Given the description of an element on the screen output the (x, y) to click on. 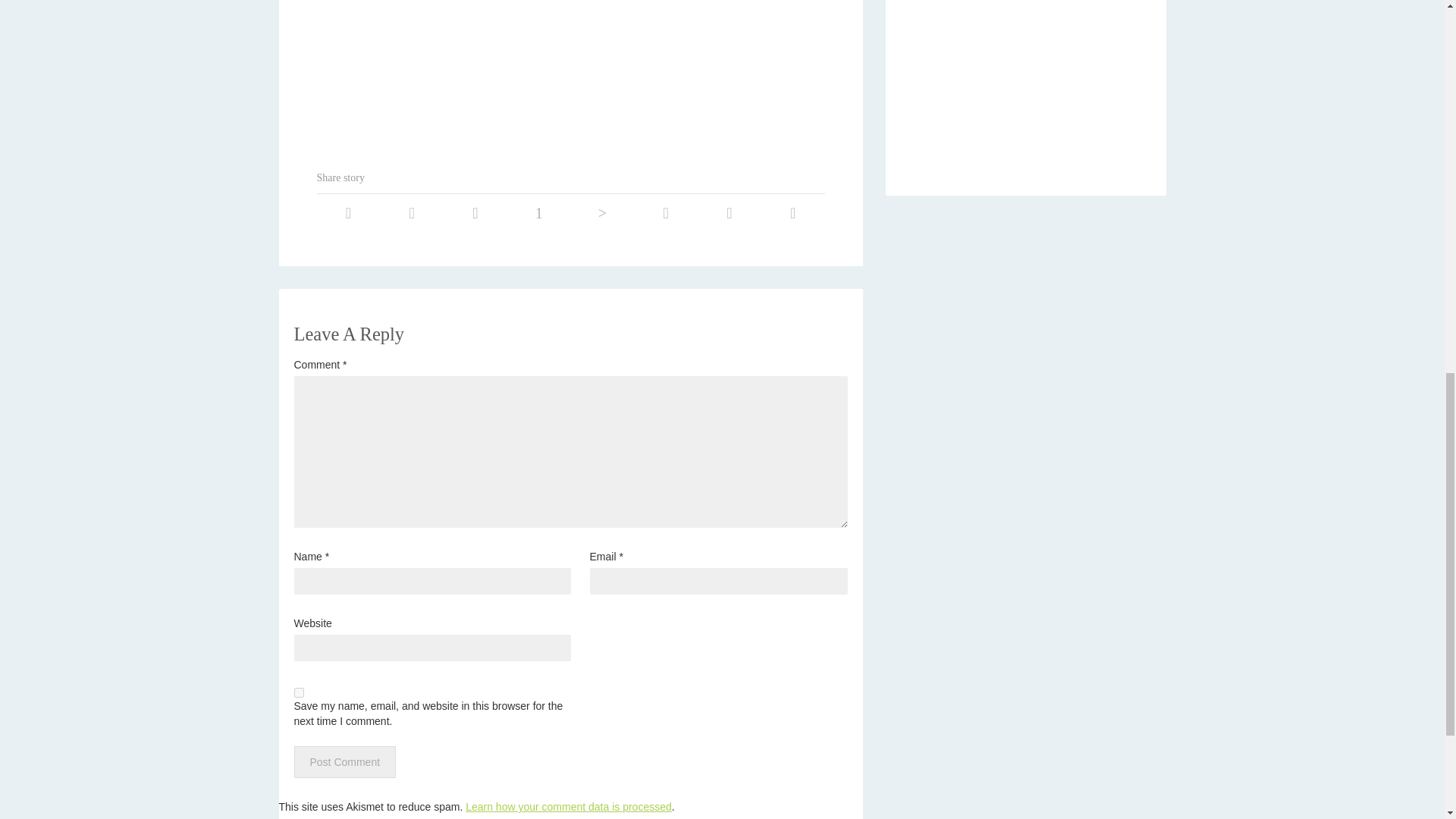
Spotify Embed: Office Radio (1025, 83)
yes (299, 692)
Post Comment (345, 762)
